Given the description of an element on the screen output the (x, y) to click on. 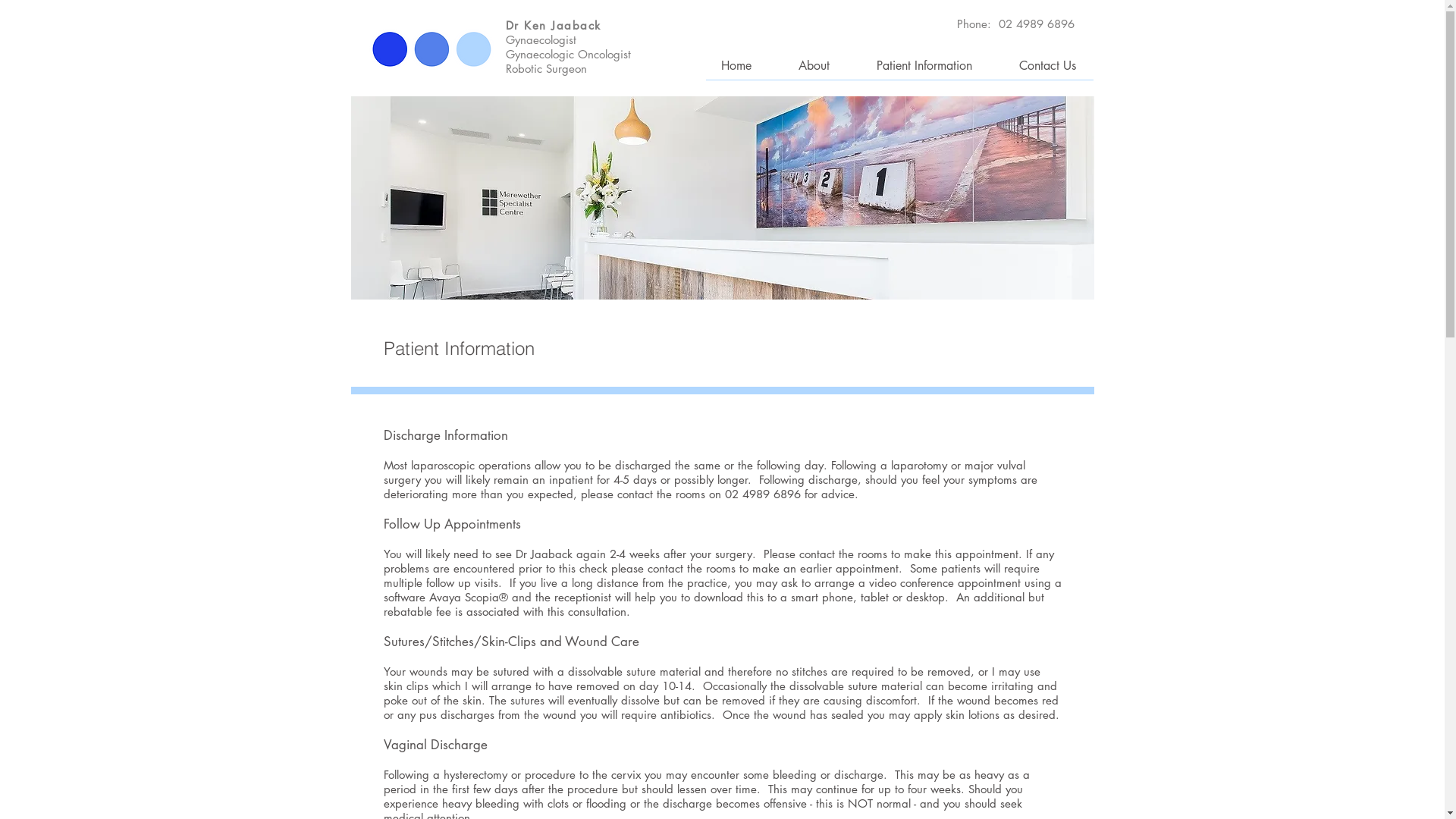
About Element type: text (797, 65)
Patient Information Element type: text (908, 65)
Contact Us Element type: text (1031, 65)
Home Element type: text (719, 65)
